Given the description of an element on the screen output the (x, y) to click on. 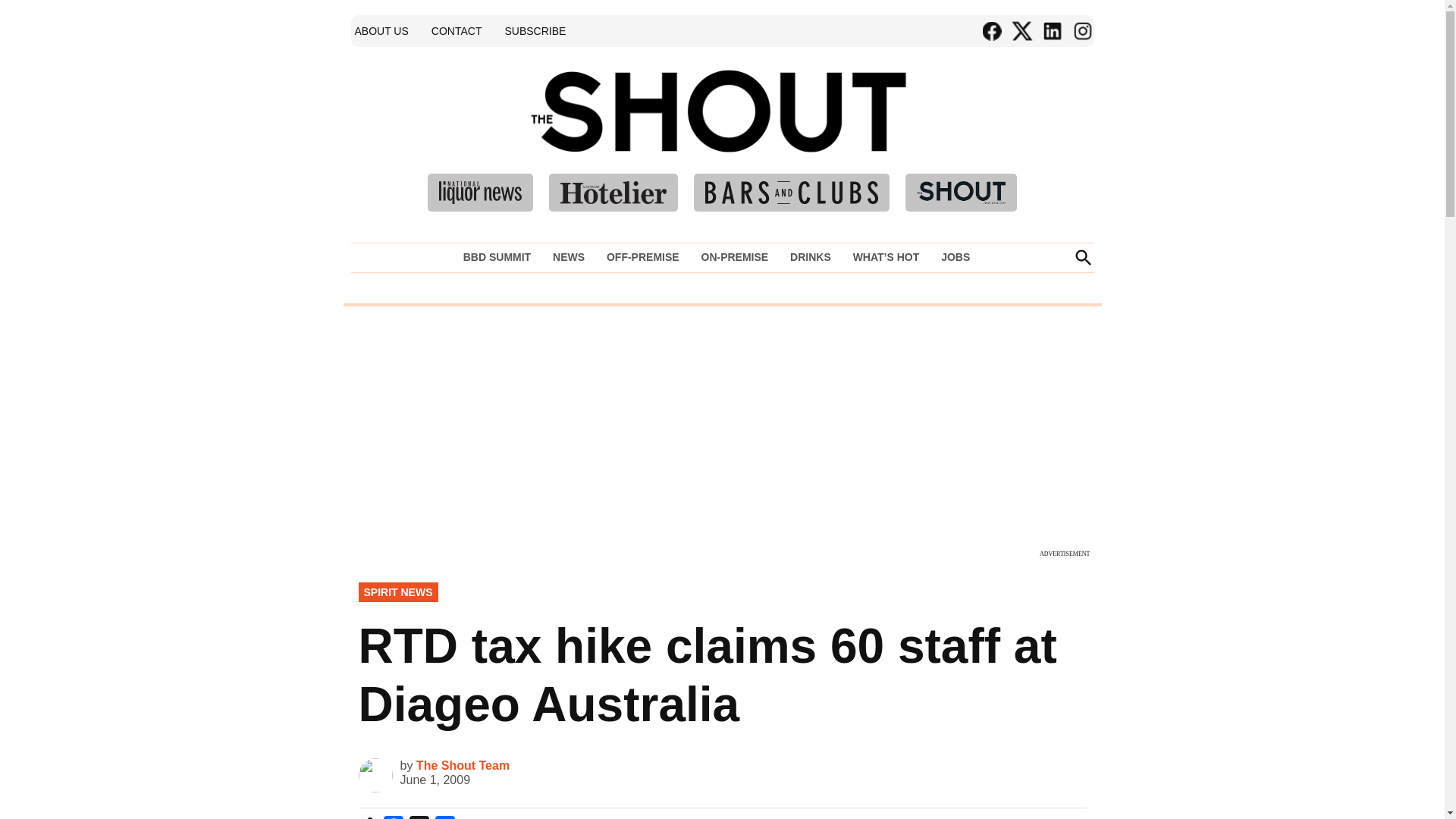
SUBSCRIBE (534, 30)
Facebook (991, 31)
ABOUT US (381, 30)
Facebook (393, 817)
ON-PREMISE (734, 256)
X (419, 817)
Twitter (1021, 31)
NEWS (568, 256)
BBD SUMMIT (500, 256)
Linkedin (1051, 31)
CONTACT (457, 30)
OFF-PREMISE (642, 256)
Instagram (1081, 31)
The Shout (939, 133)
